Given the description of an element on the screen output the (x, y) to click on. 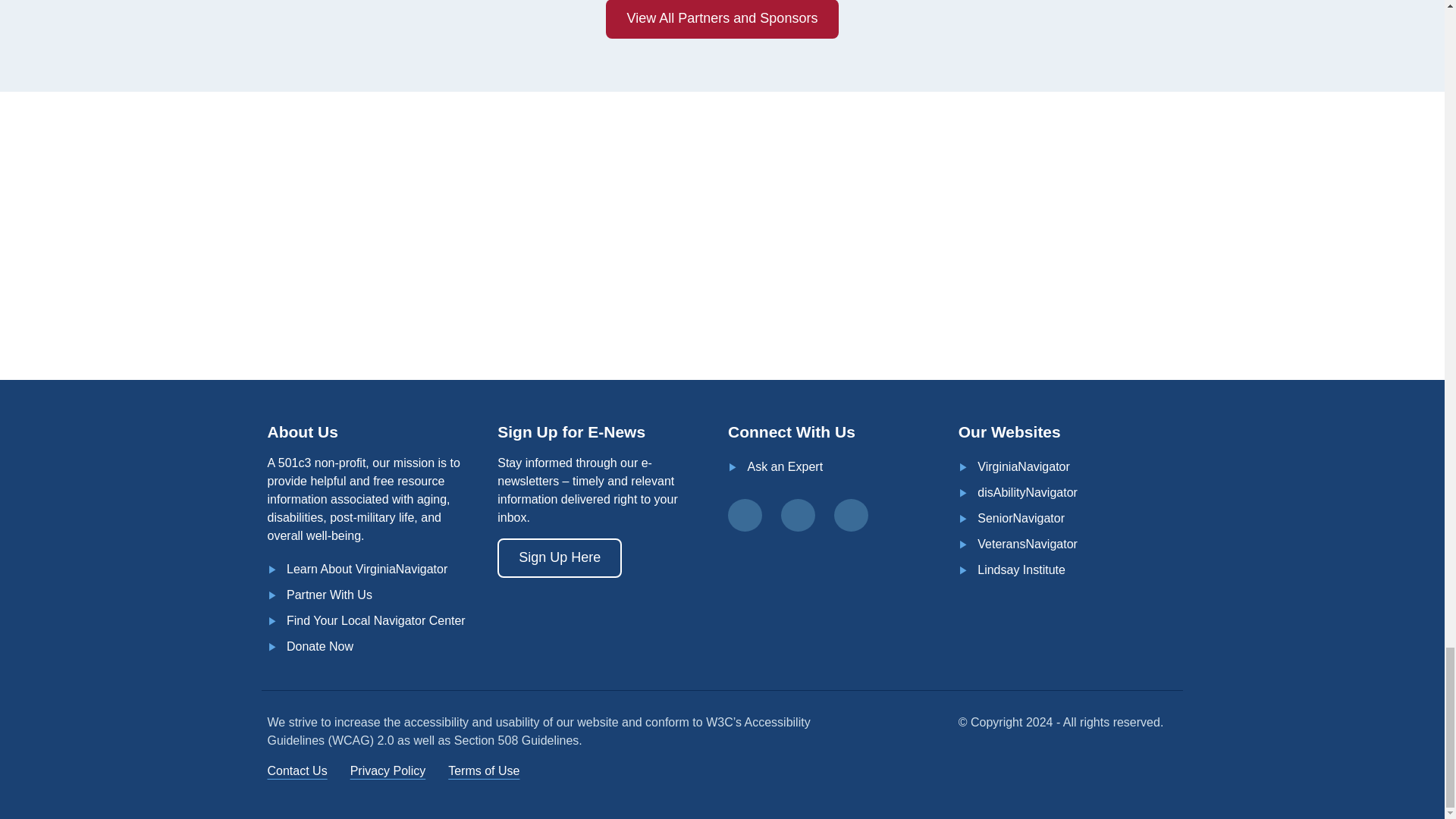
3rd party ad content (619, 231)
3rd party ad content (870, 231)
About Us (366, 568)
